Given the description of an element on the screen output the (x, y) to click on. 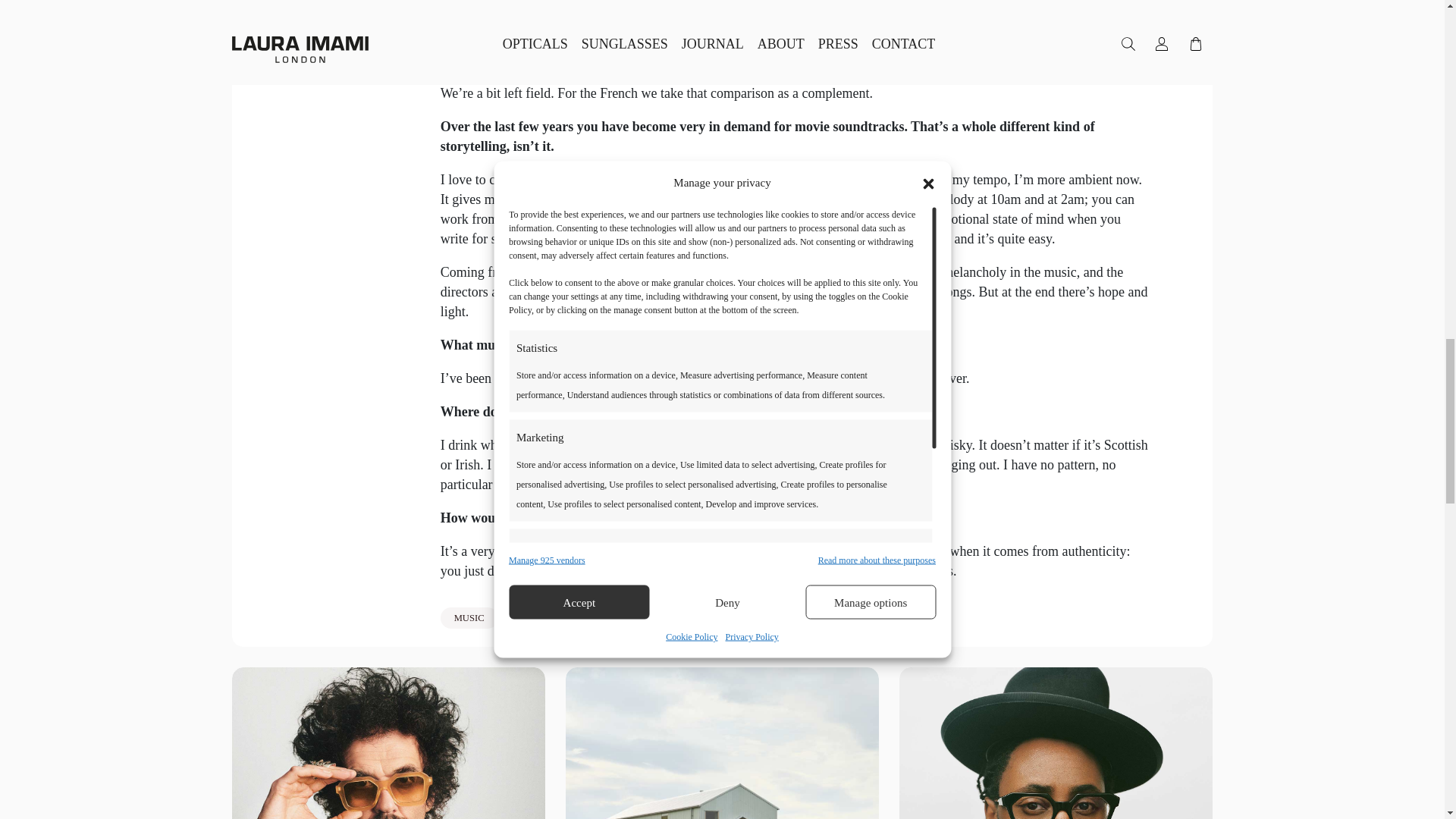
MUSIC (469, 617)
